Given the description of an element on the screen output the (x, y) to click on. 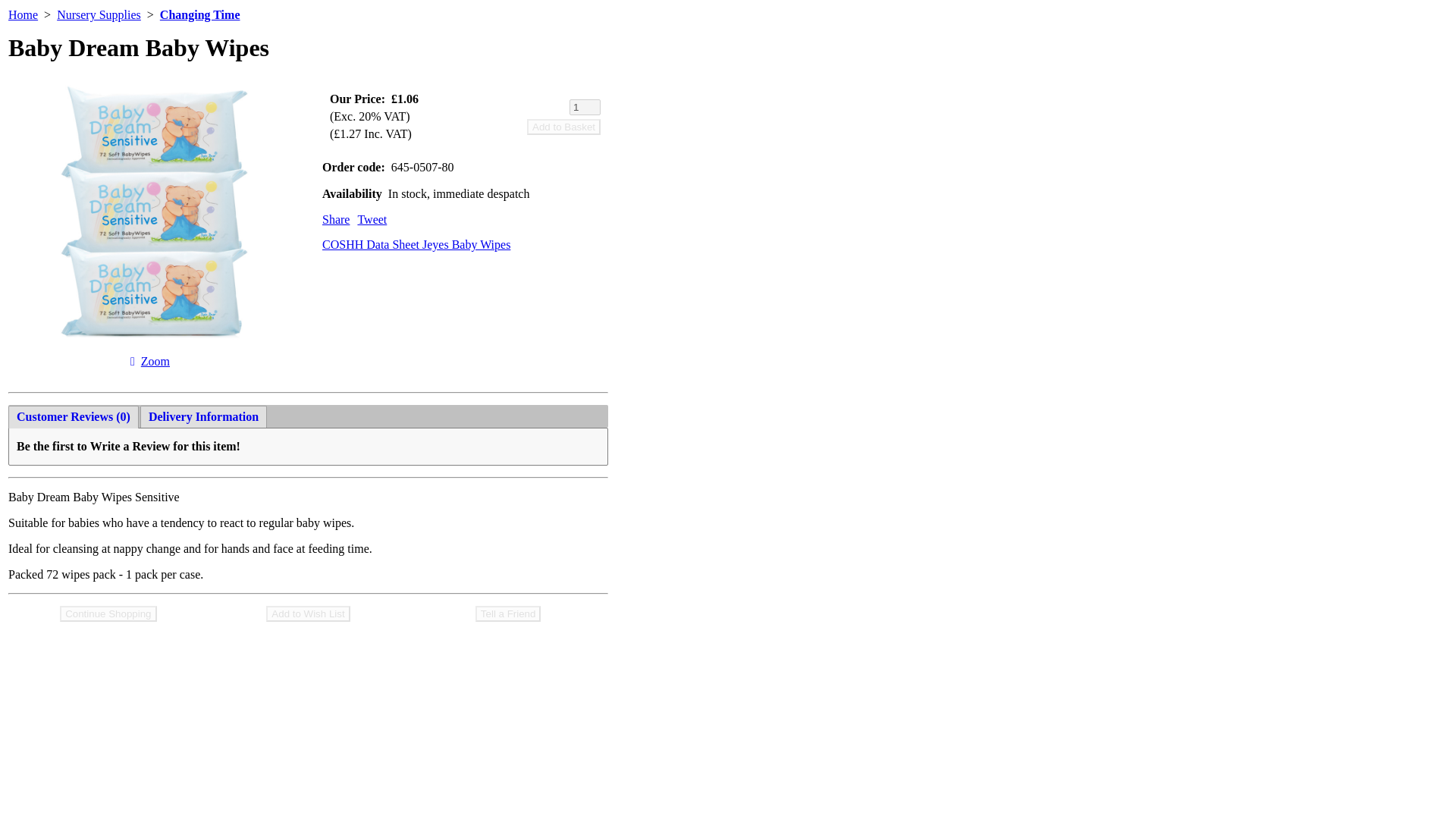
Tweet (371, 219)
COSHH Data Sheet Jeyes Baby Wipes (416, 244)
Write a Review (130, 445)
Baby Dream Baby Wipes (149, 345)
Zoom (155, 360)
1 (584, 106)
Home (22, 14)
Baby Dream Baby Wipes (155, 360)
Changing Time (200, 14)
Add to Basket (563, 125)
